Given the description of an element on the screen output the (x, y) to click on. 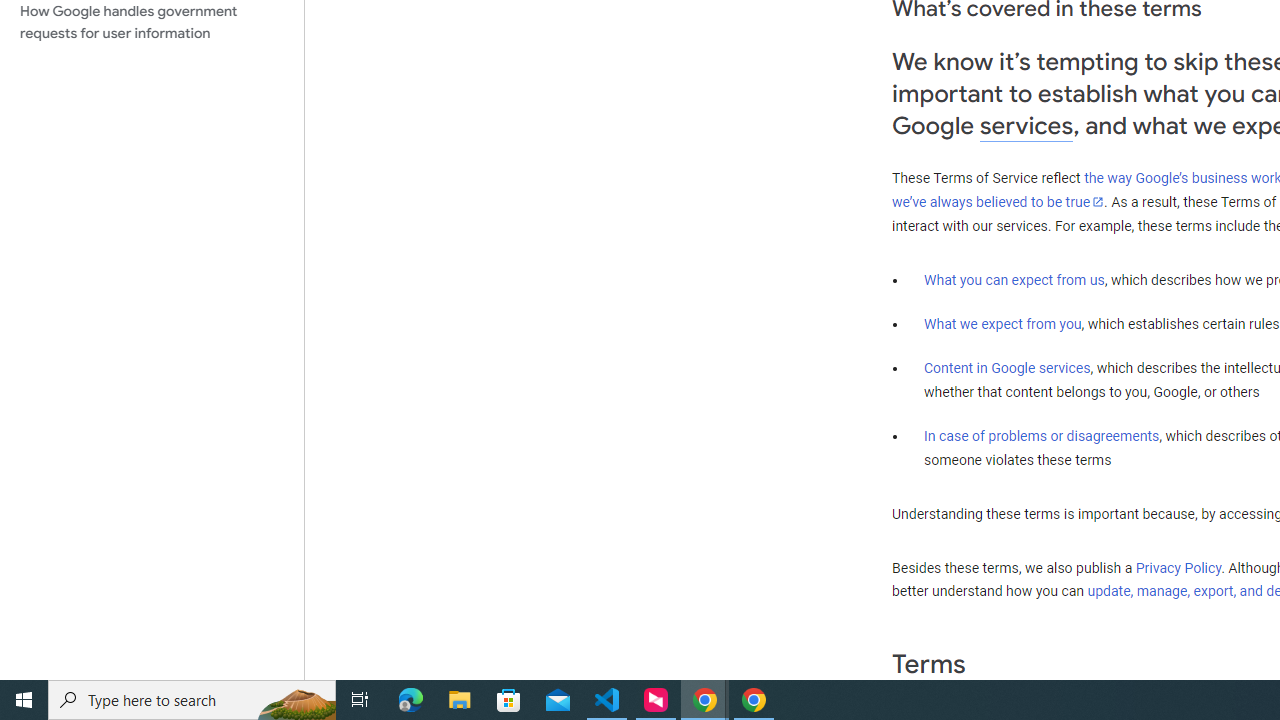
In case of problems or disagreements (1041, 435)
Content in Google services (1007, 368)
services (1026, 125)
What you can expect from us (1014, 279)
What we expect from you (1002, 323)
